Given the description of an element on the screen output the (x, y) to click on. 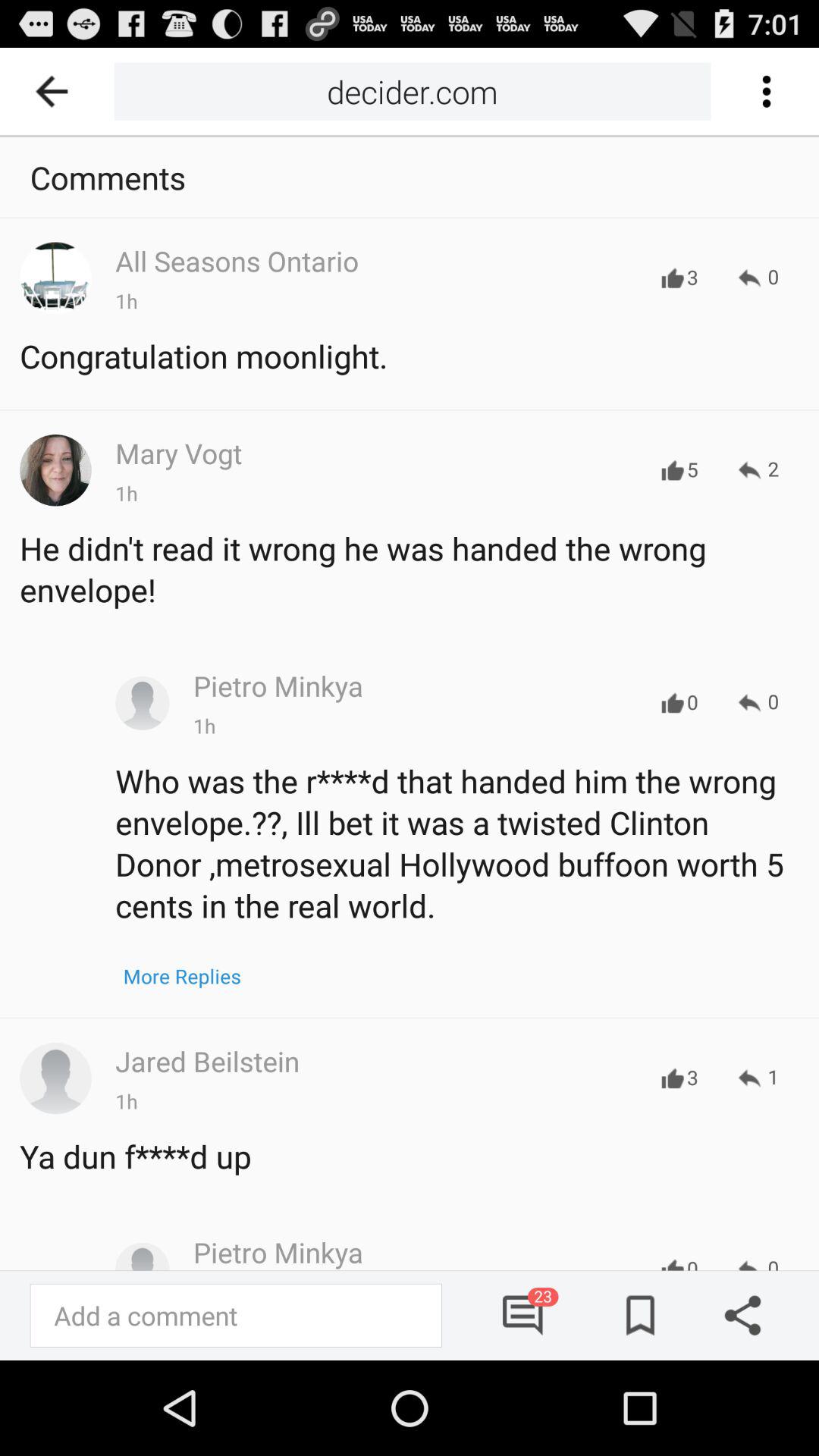
click item below ya dun f icon (523, 1315)
